Given the description of an element on the screen output the (x, y) to click on. 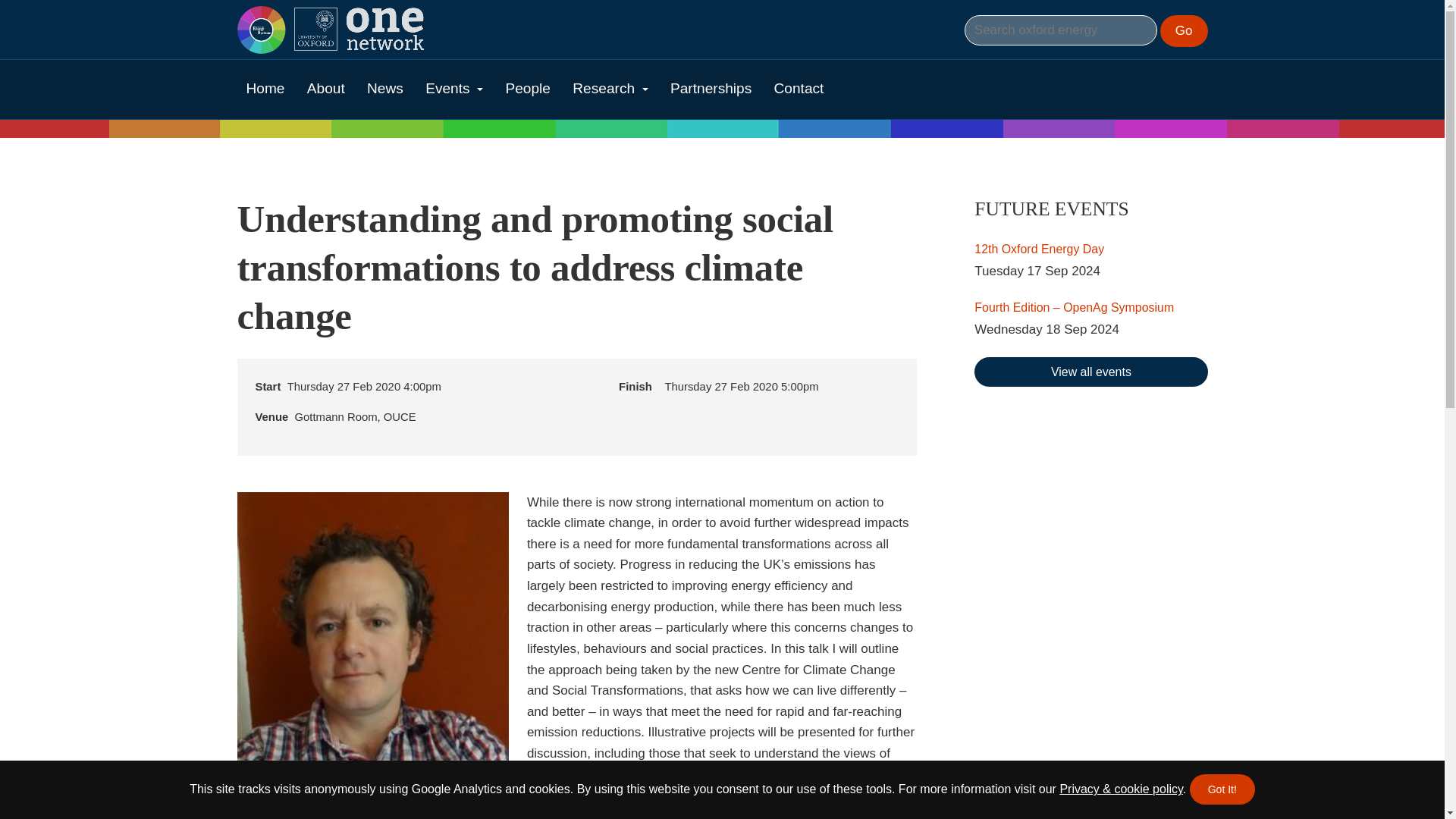
Home (264, 88)
Events (454, 88)
News (385, 88)
Go (1184, 30)
Search site (1060, 30)
Go (1184, 30)
About (325, 88)
